Given the description of an element on the screen output the (x, y) to click on. 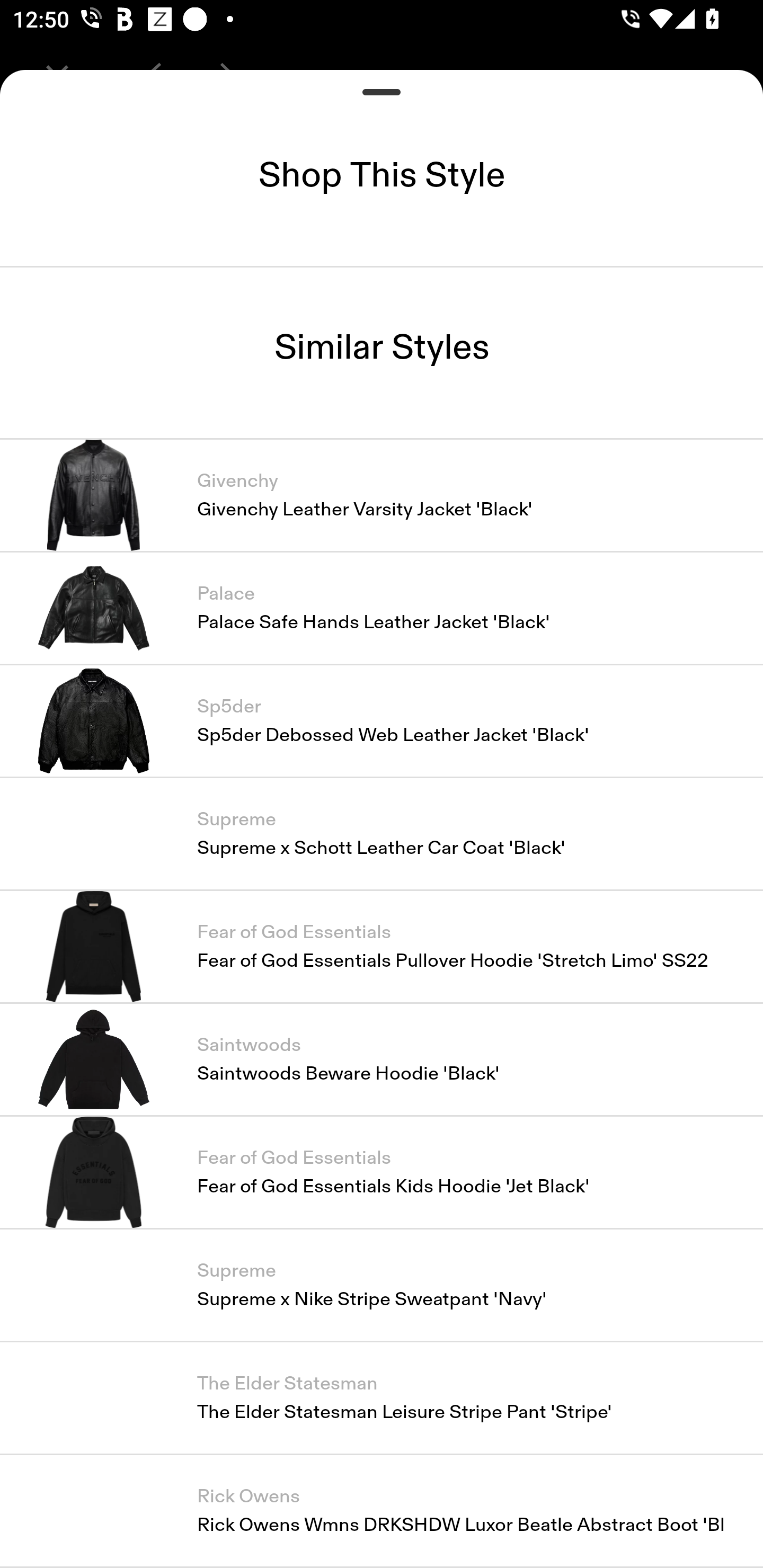
Givenchy Givenchy Leather Varsity Jacket 'Black' (381, 494)
Palace Palace Safe Hands Leather Jacket 'Black' (381, 607)
Sp5der Sp5der Debossed Web Leather Jacket 'Black' (381, 720)
Supreme Supreme x Schott Leather Car Coat 'Black' (381, 833)
Saintwoods Saintwoods Beware Hoodie 'Black' (381, 1058)
Supreme Supreme x Nike Stripe Sweatpant 'Navy' (381, 1284)
